Given the description of an element on the screen output the (x, y) to click on. 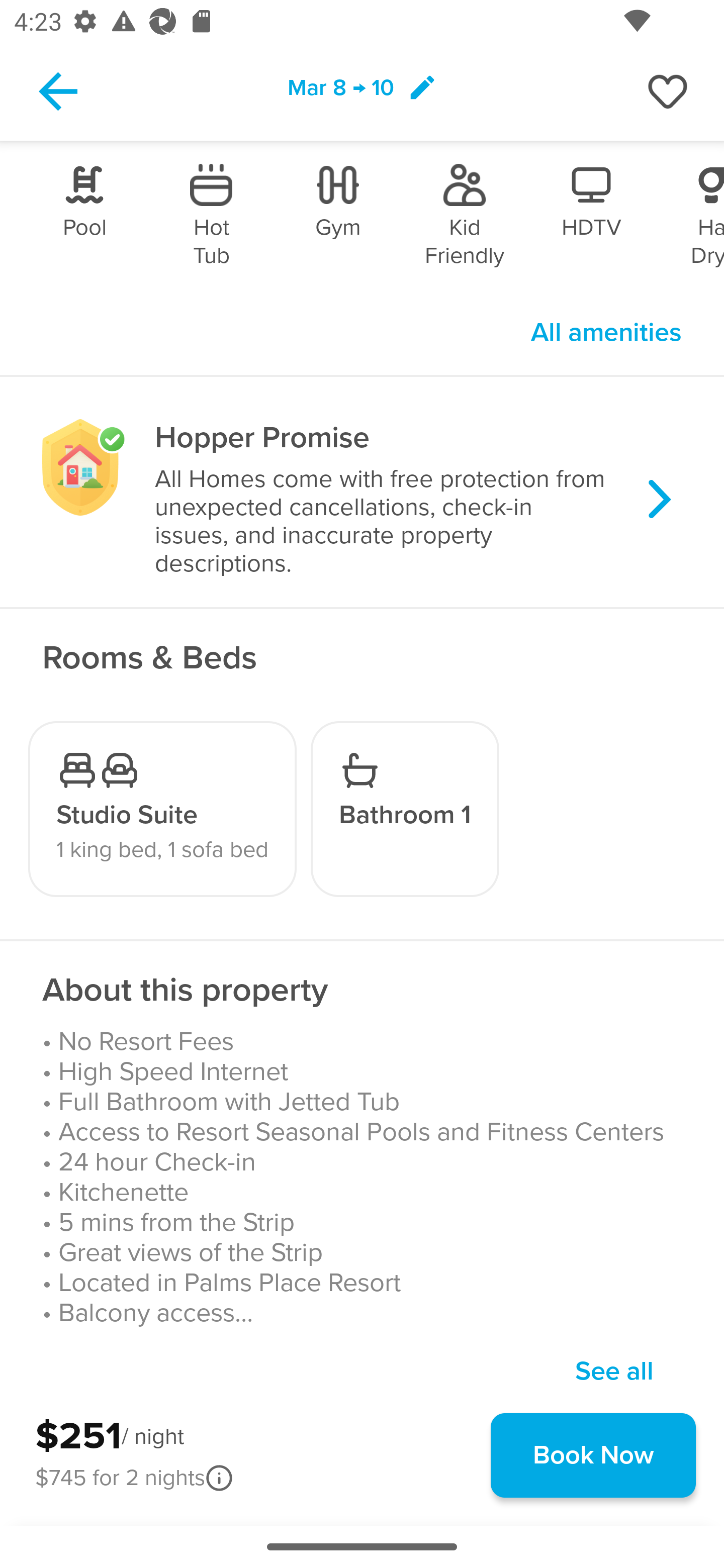
Mar 8 → 10 (361, 90)
All amenities (606, 332)
See all (614, 1356)
Book Now (592, 1454)
